Given the description of an element on the screen output the (x, y) to click on. 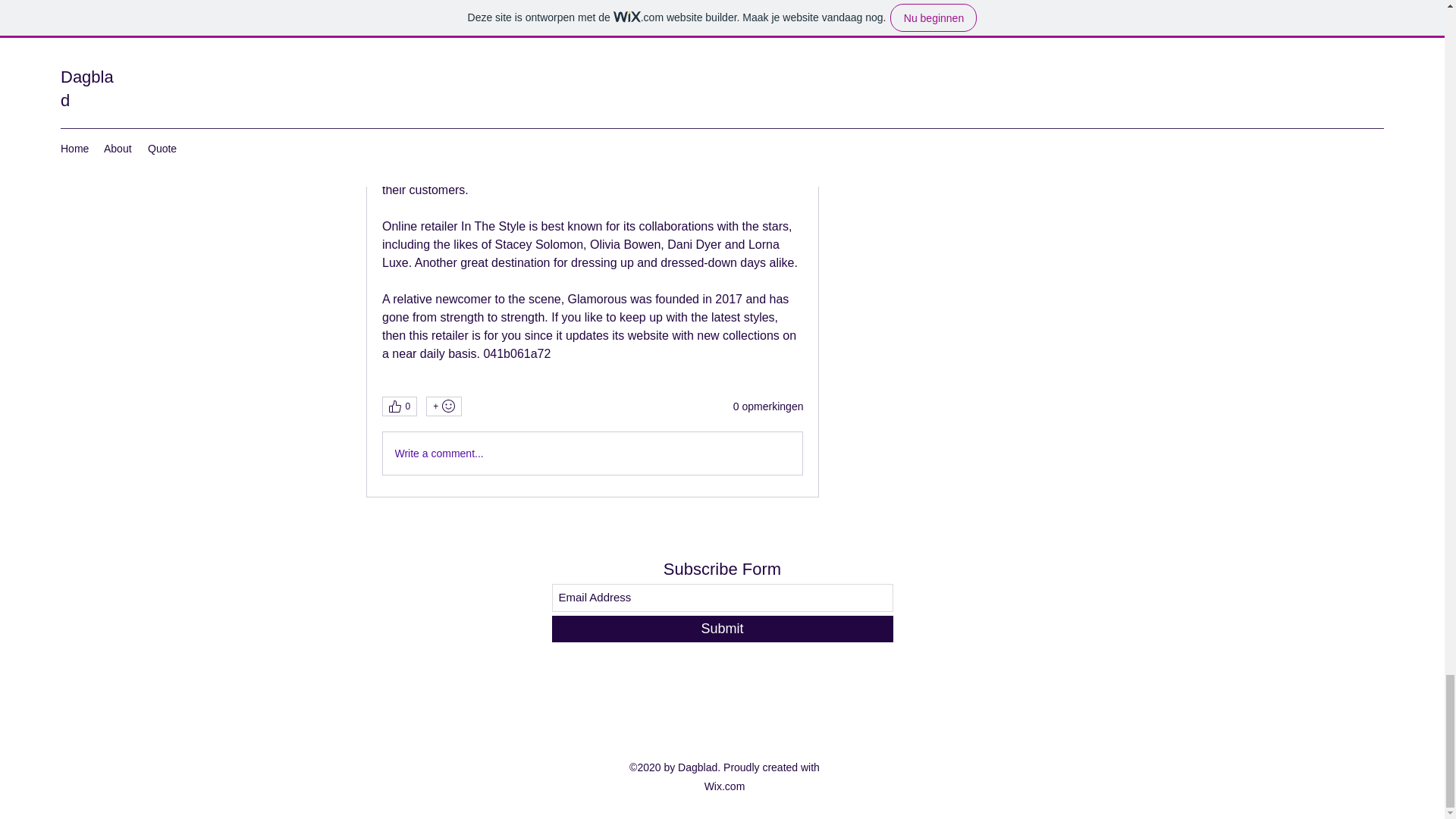
0 opmerkingen (768, 406)
Write a comment... (591, 453)
Submit (722, 628)
